Given the description of an element on the screen output the (x, y) to click on. 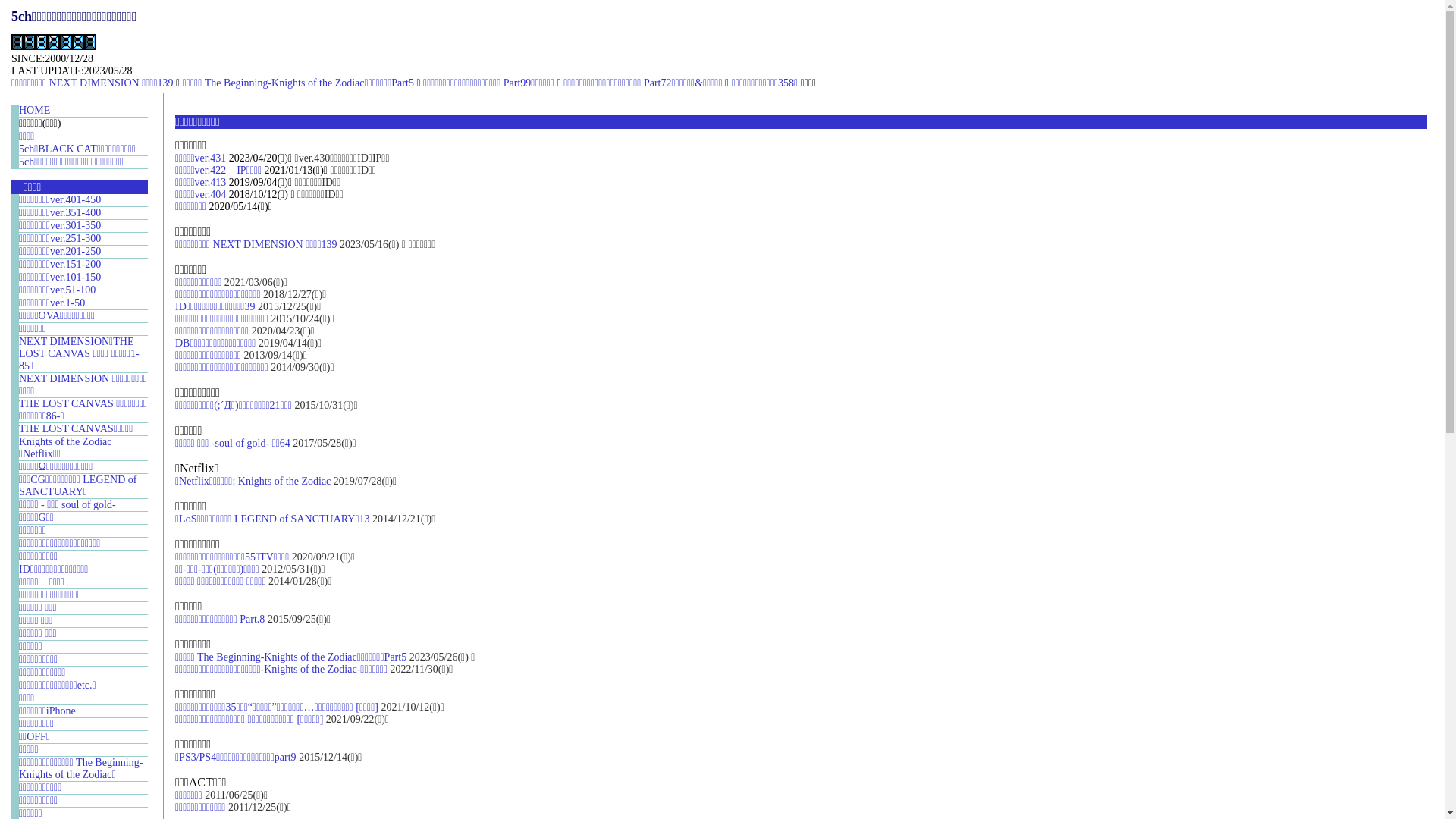
HOME Element type: text (34, 110)
